Given the description of an element on the screen output the (x, y) to click on. 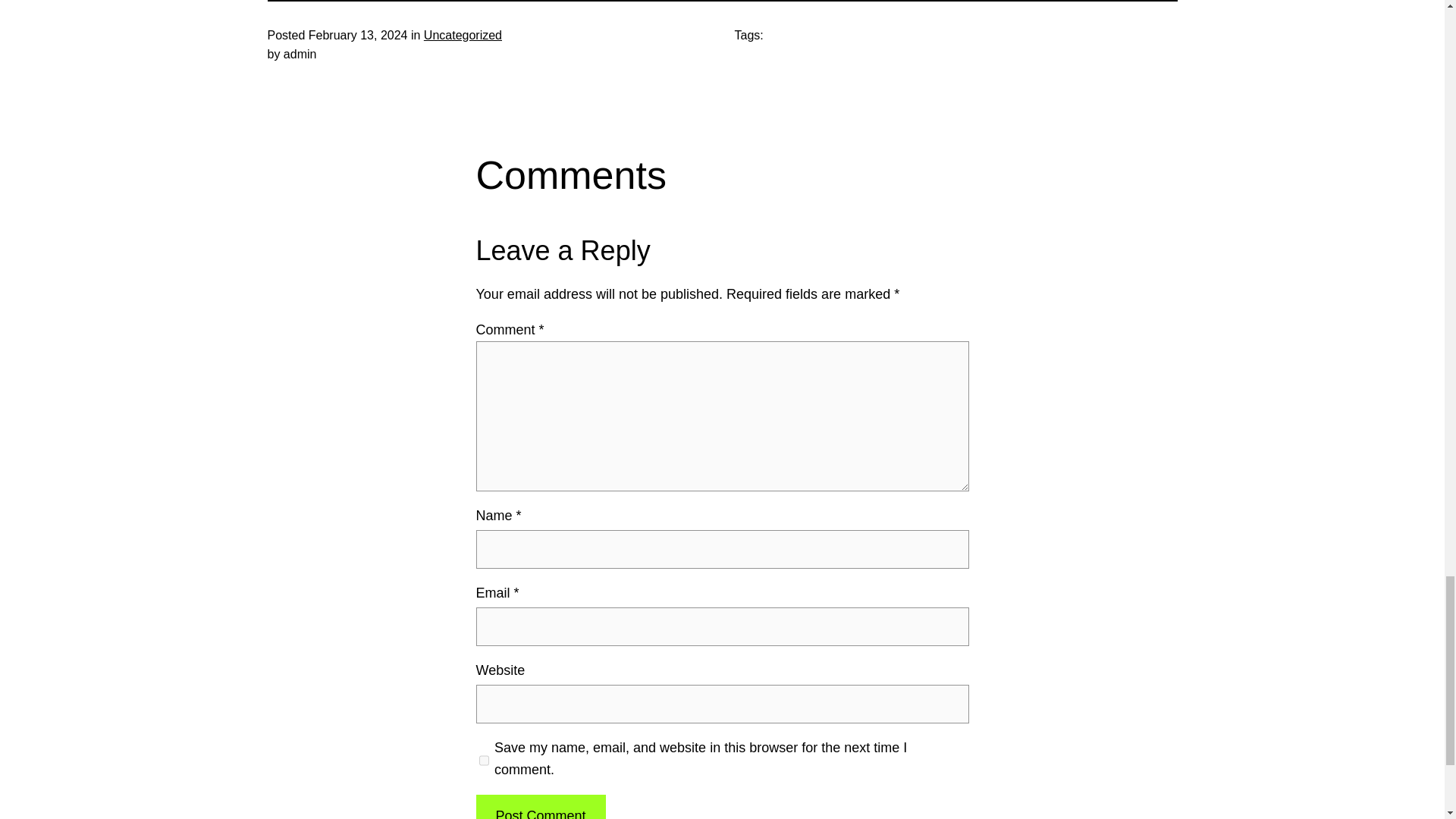
Uncategorized (462, 34)
Post Comment (540, 806)
Post Comment (540, 806)
